Given the description of an element on the screen output the (x, y) to click on. 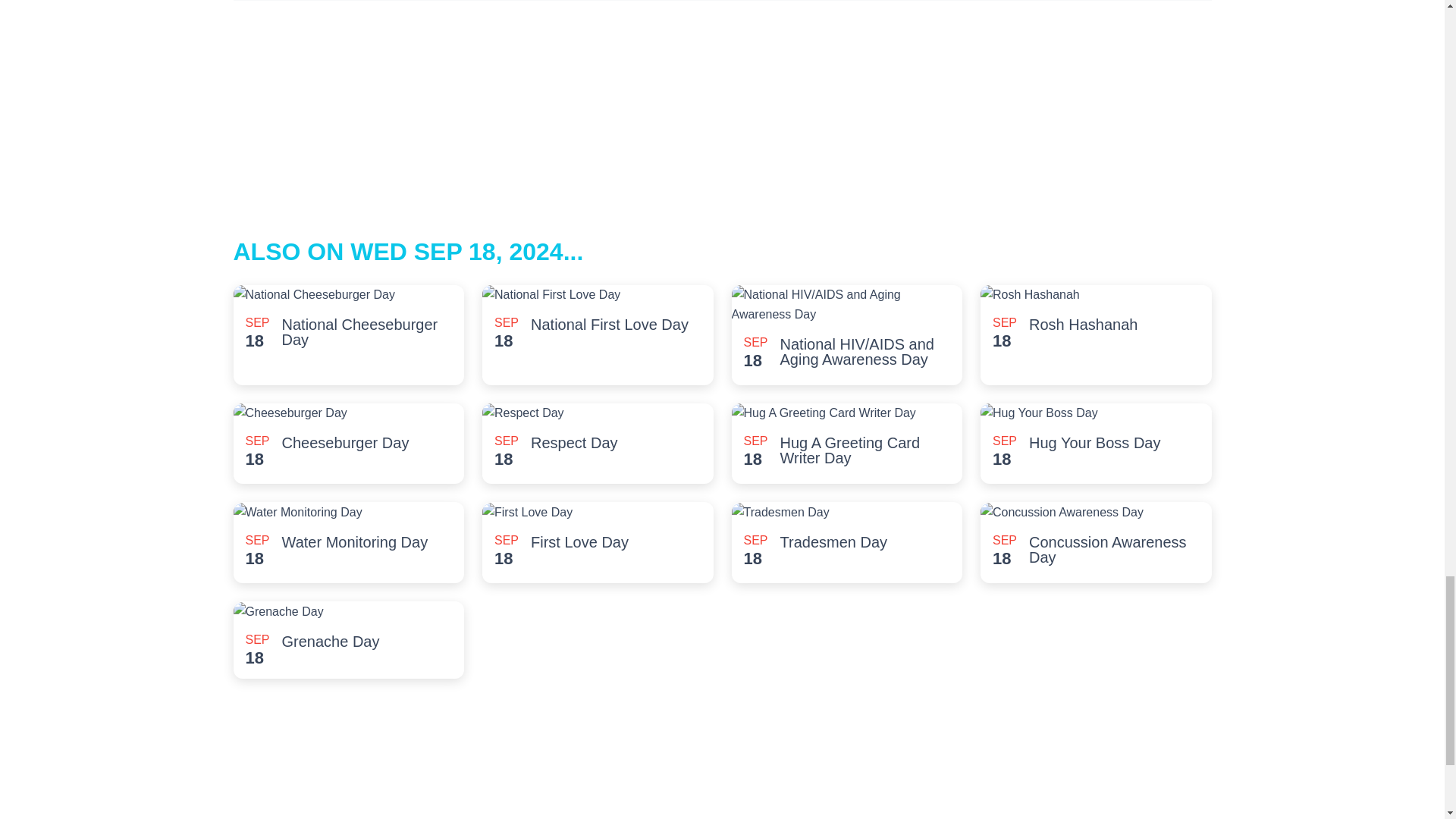
Hug A Greeting Card Writer Day (865, 450)
Advertisement (721, 755)
National Cheeseburger Day (366, 331)
Rosh Hashanah (1083, 324)
Cheeseburger Day (345, 442)
National First Love Day (609, 324)
Respect Day (574, 442)
